Given the description of an element on the screen output the (x, y) to click on. 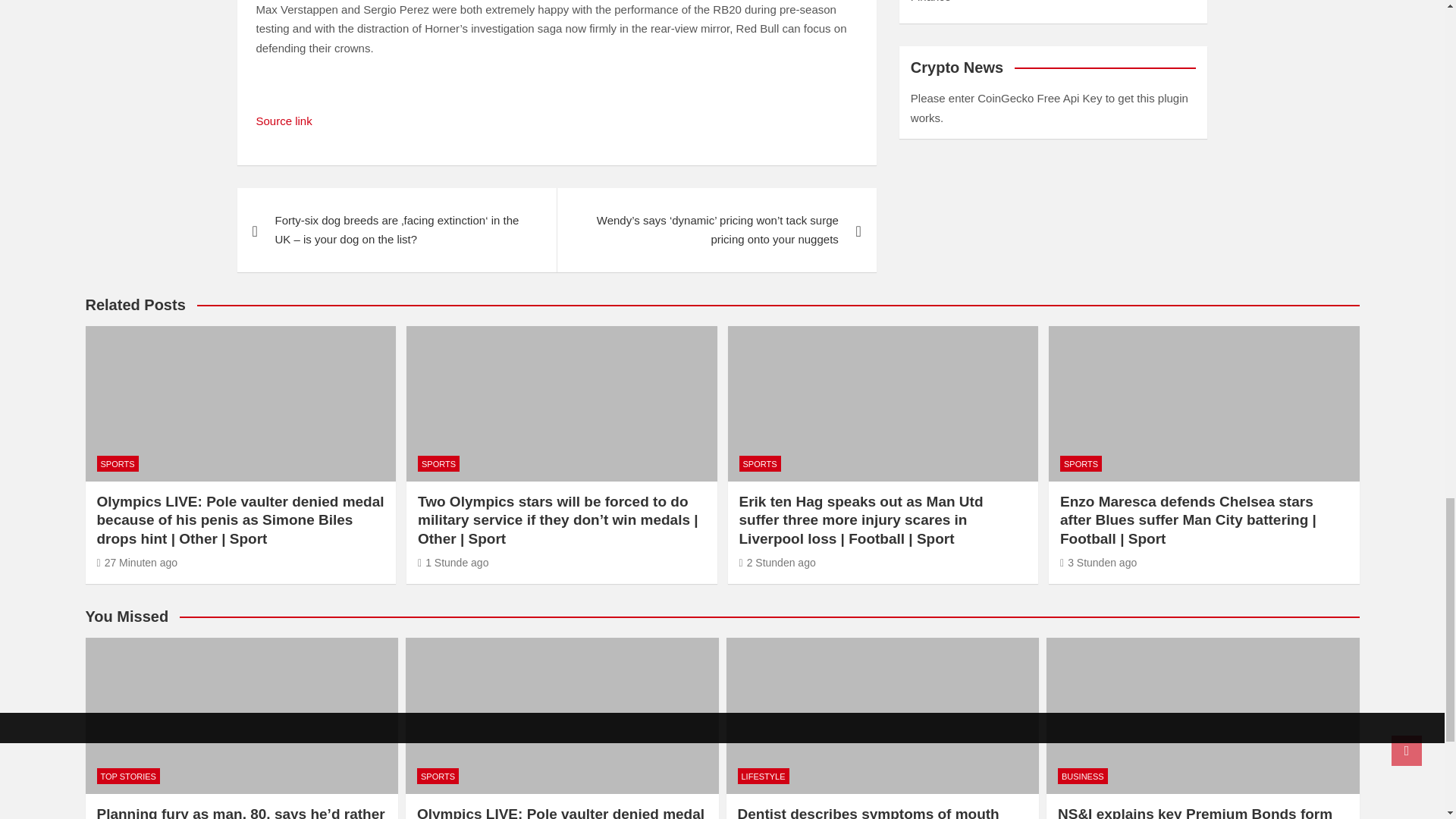
Source link (284, 120)
